Given the description of an element on the screen output the (x, y) to click on. 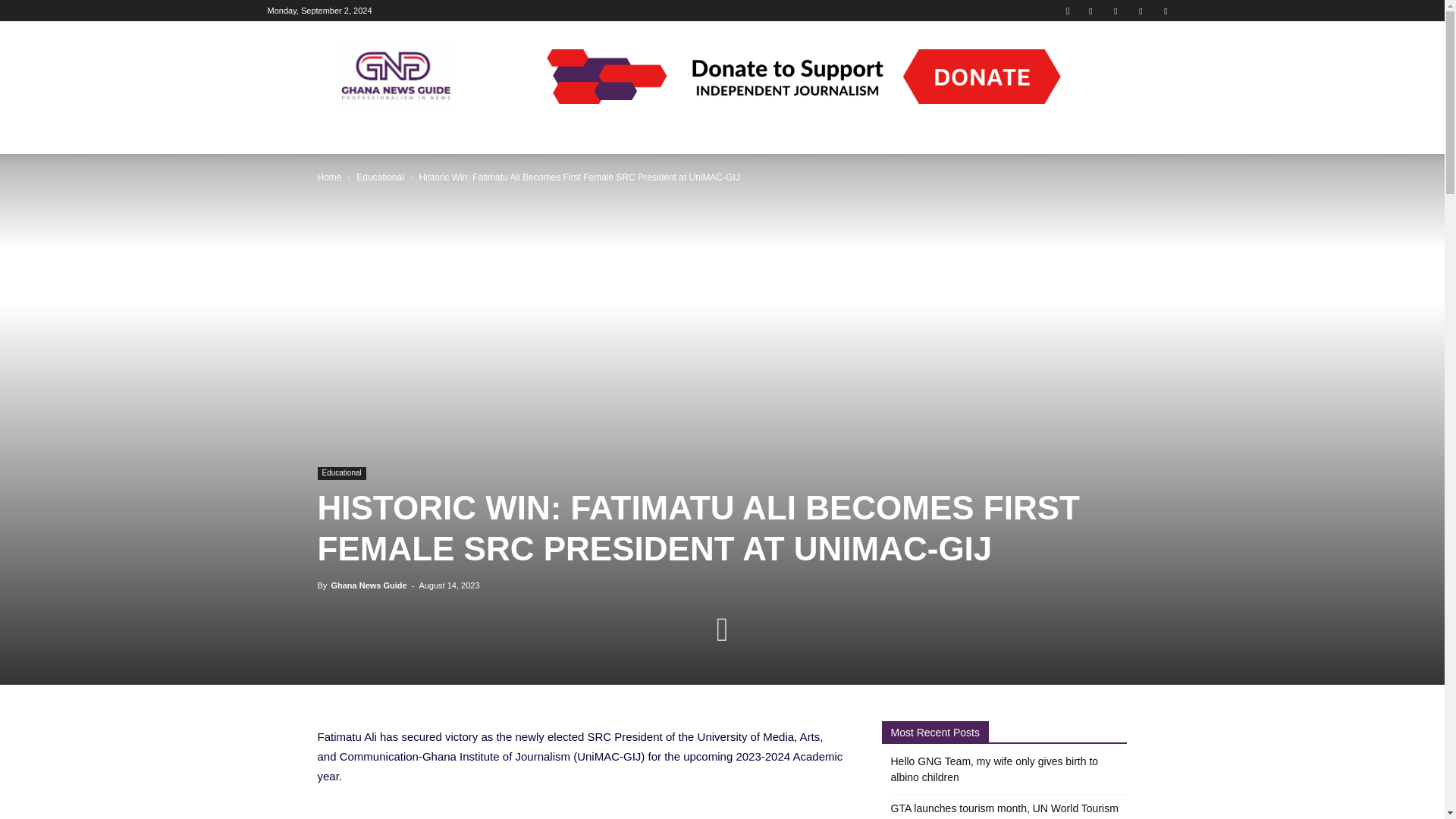
Ghana News Guide (396, 76)
Youtube (1165, 10)
Facebook (1090, 10)
Search (1134, 64)
Linkedin (1114, 10)
Twitter (1140, 10)
DAILY UPDATES (372, 135)
HOME (293, 135)
